Given the description of an element on the screen output the (x, y) to click on. 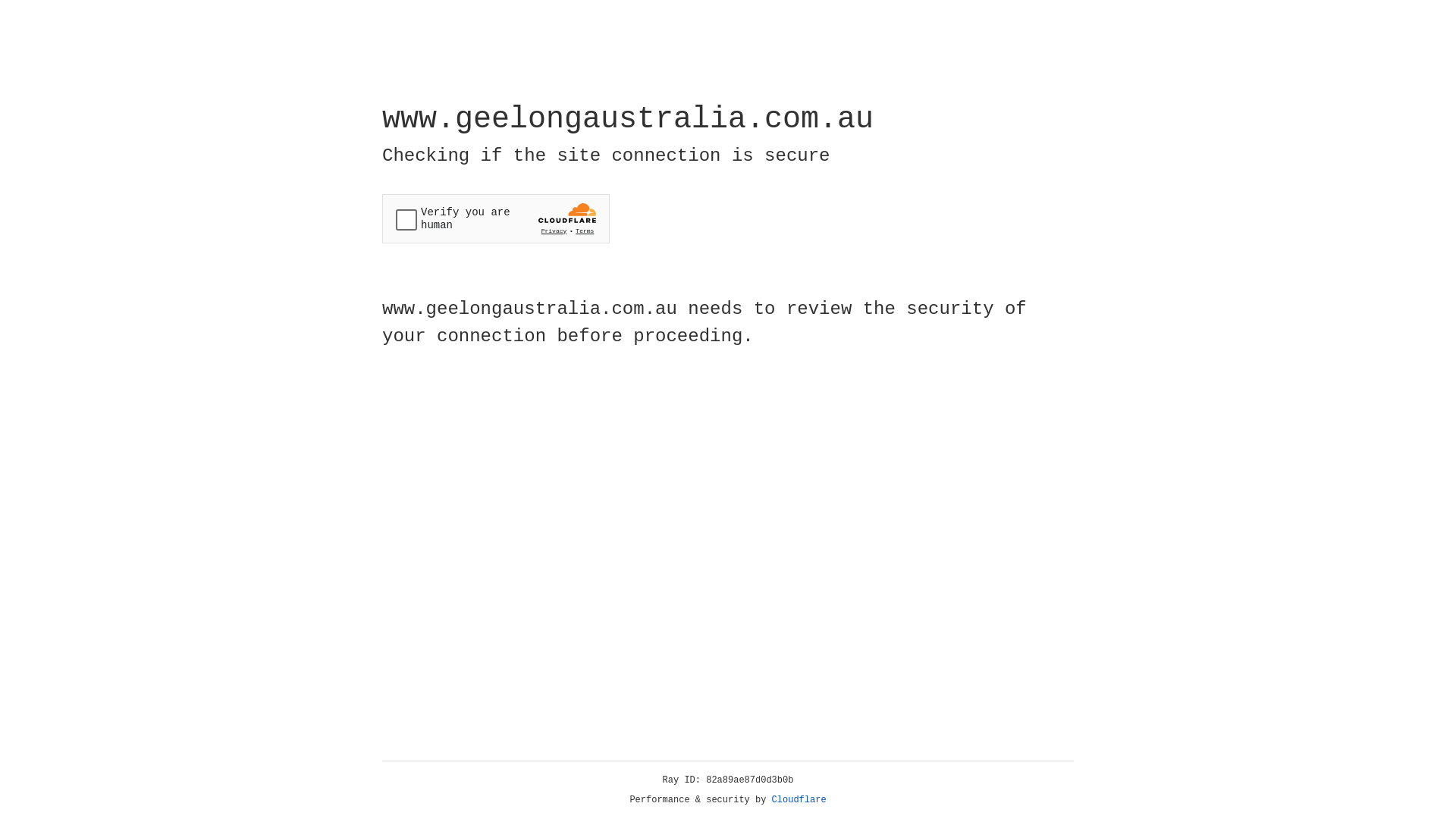
Widget containing a Cloudflare security challenge Element type: hover (495, 218)
Cloudflare Element type: text (798, 799)
